Given the description of an element on the screen output the (x, y) to click on. 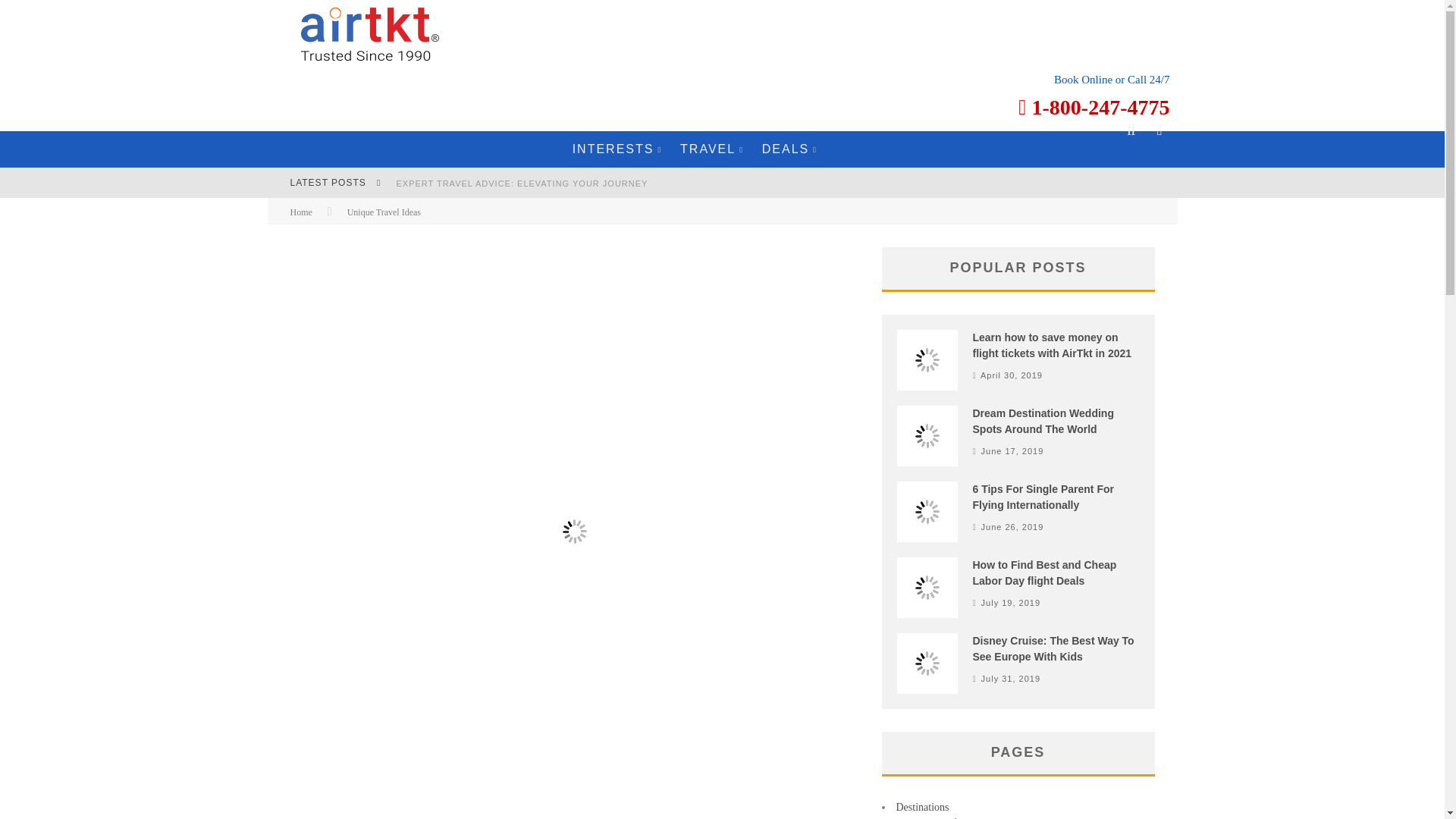
View all posts in Unique Travel Ideas (383, 211)
Expert Travel Advice: Elevating Your Journey (521, 183)
Book Online (1083, 79)
Log In (721, 463)
INTERESTS (616, 148)
